Given the description of an element on the screen output the (x, y) to click on. 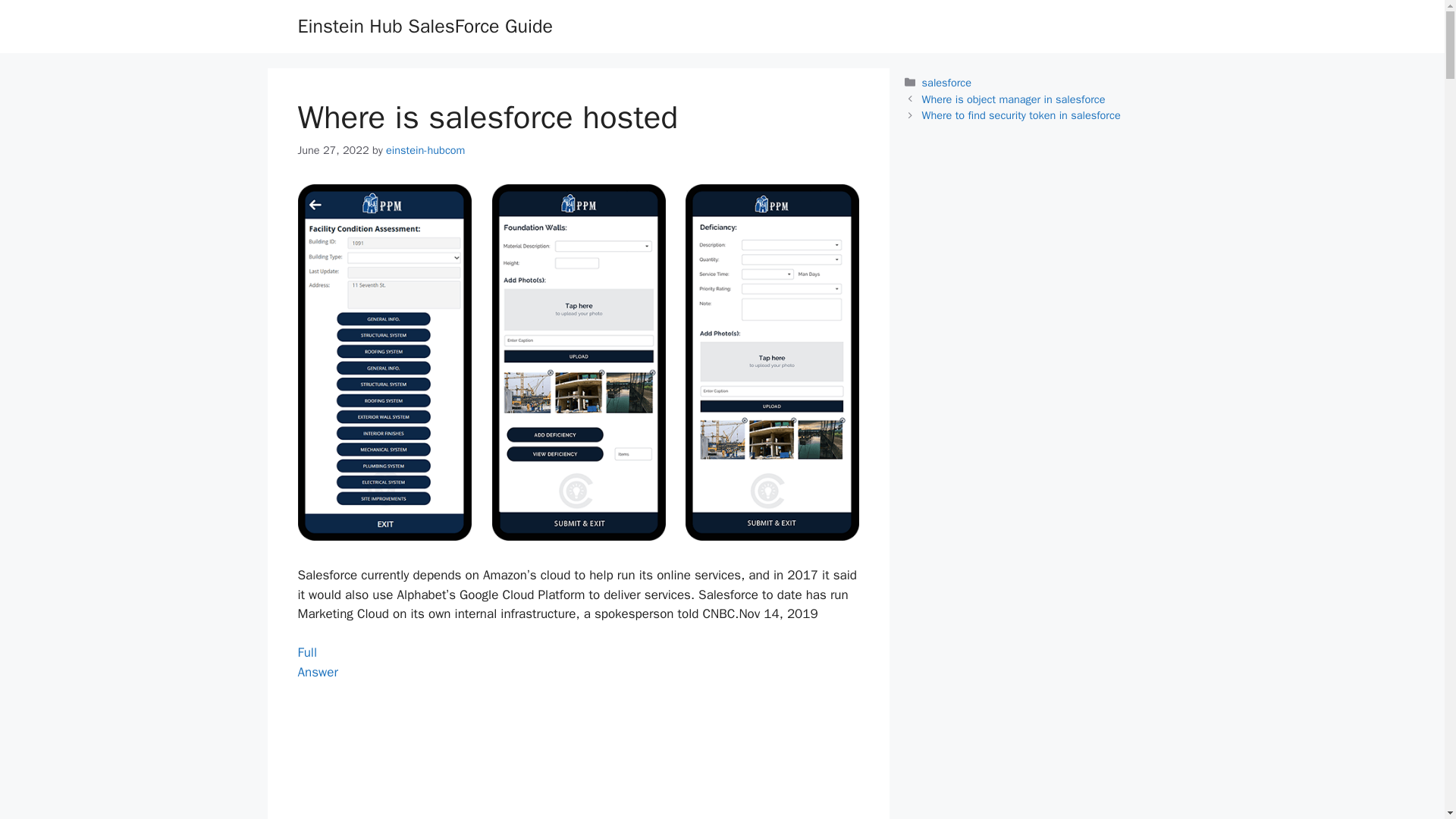
Einstein Hub SalesForce Guide (317, 662)
einstein-hubcom (424, 25)
View all posts by einstein-hubcom (424, 150)
